Given the description of an element on the screen output the (x, y) to click on. 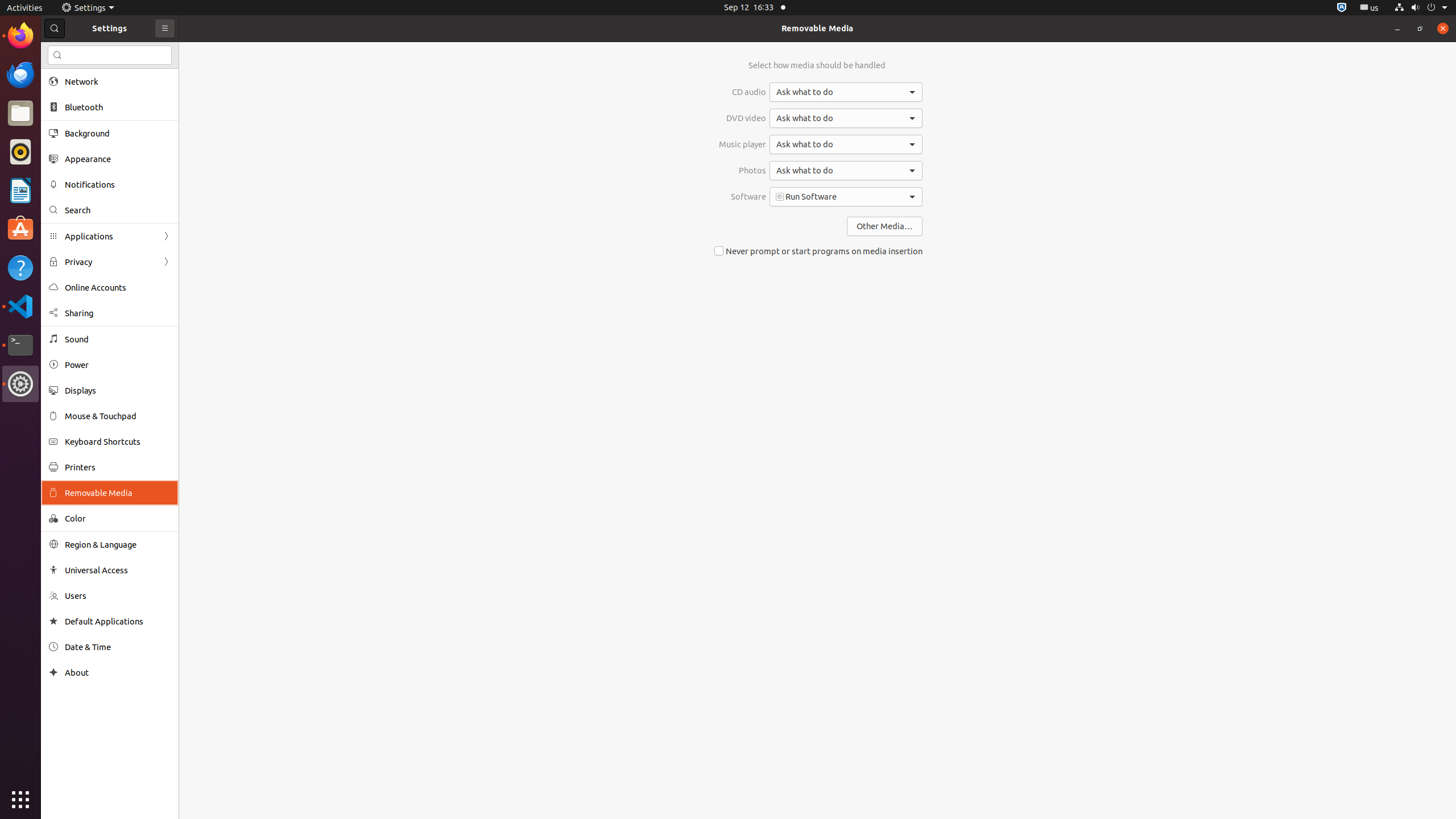
Appearance Element type: label (117, 158)
Mouse & Touchpad Element type: label (117, 415)
Online Accounts Element type: label (117, 287)
Never prompt or start programs on media insertion Element type: check-box (817, 250)
